Given the description of an element on the screen output the (x, y) to click on. 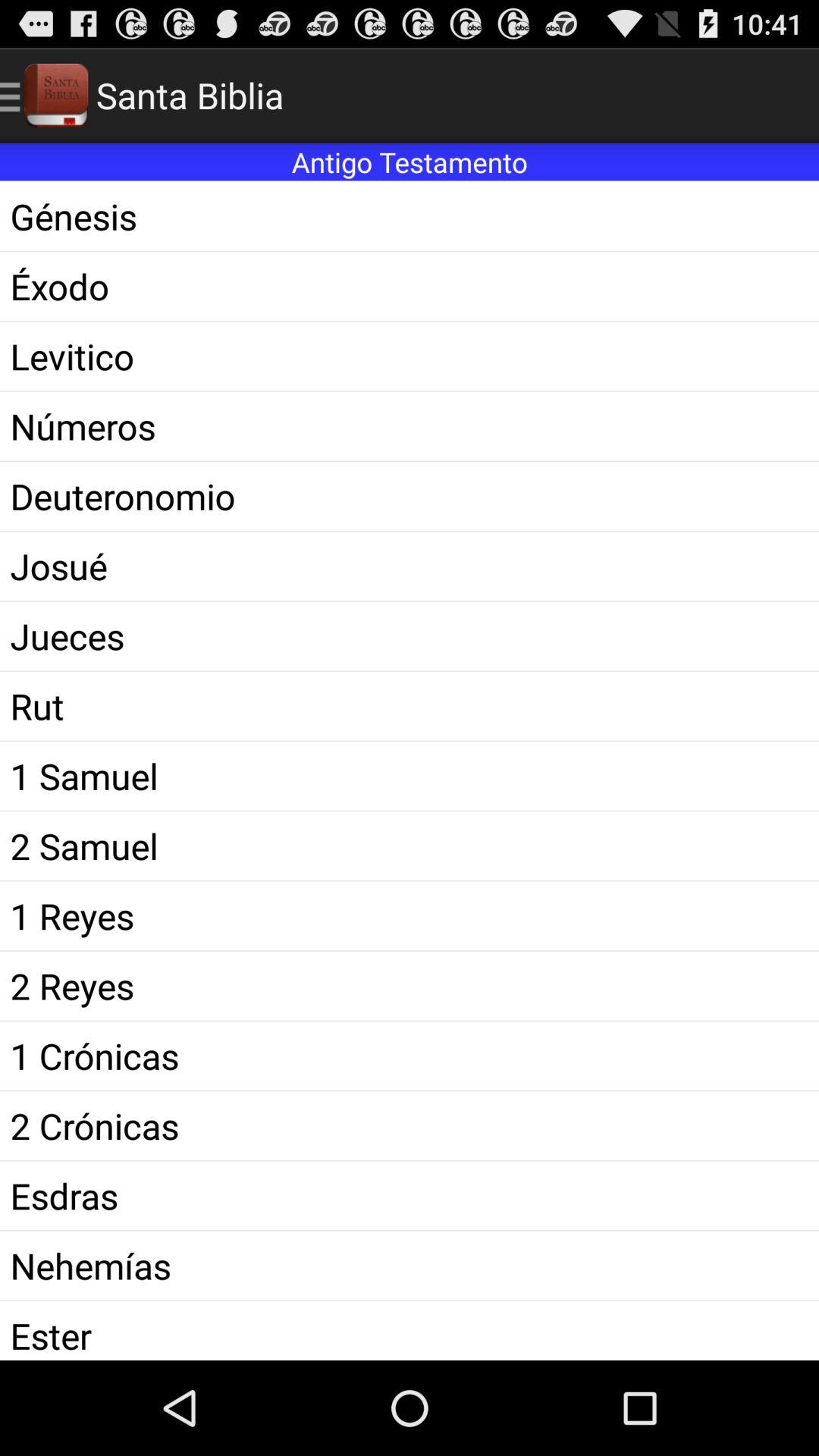
select the app above 1 samuel (409, 705)
